Given the description of an element on the screen output the (x, y) to click on. 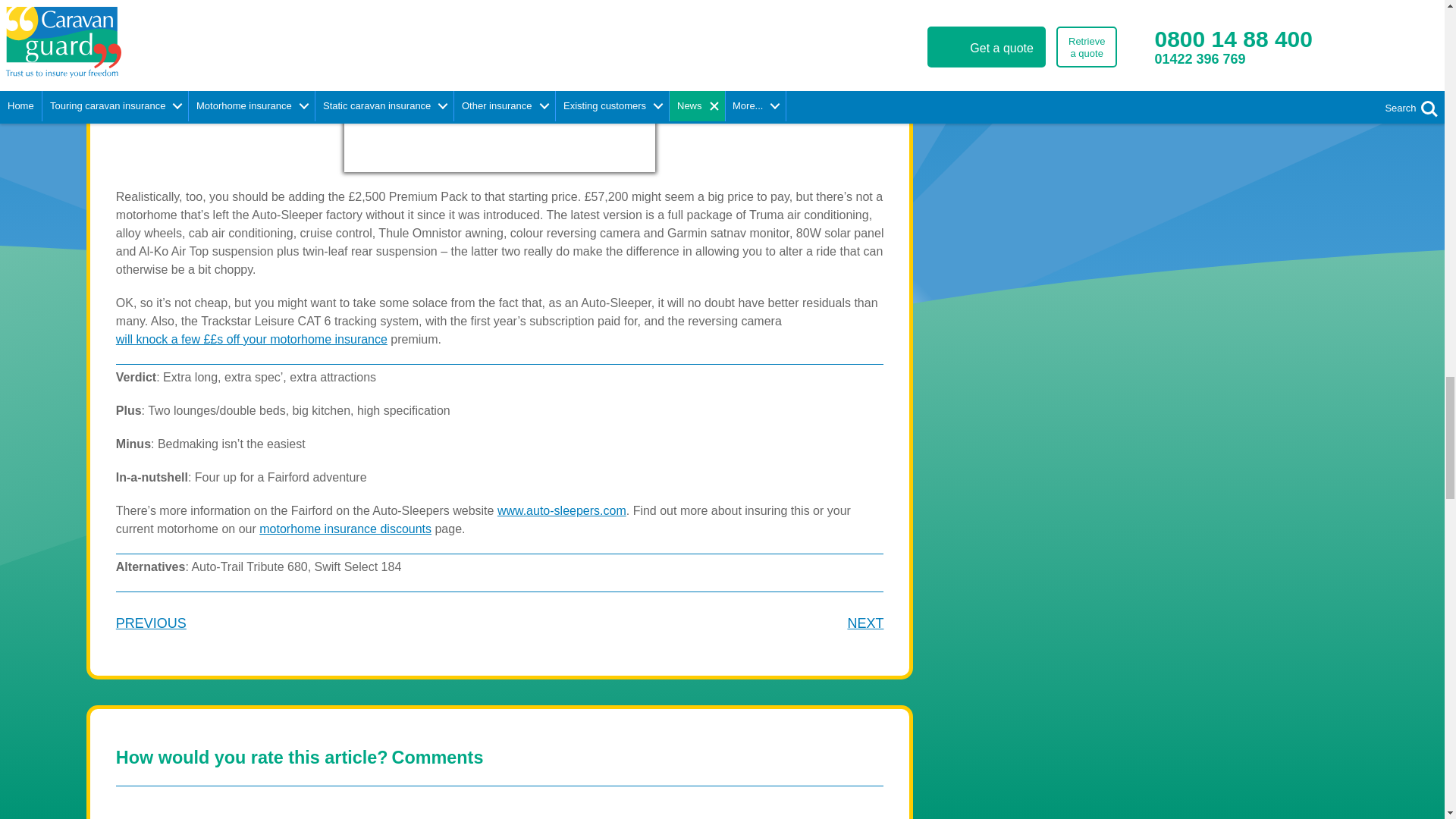
Auto-Sleeper Fairford Exterior (499, 85)
